Given the description of an element on the screen output the (x, y) to click on. 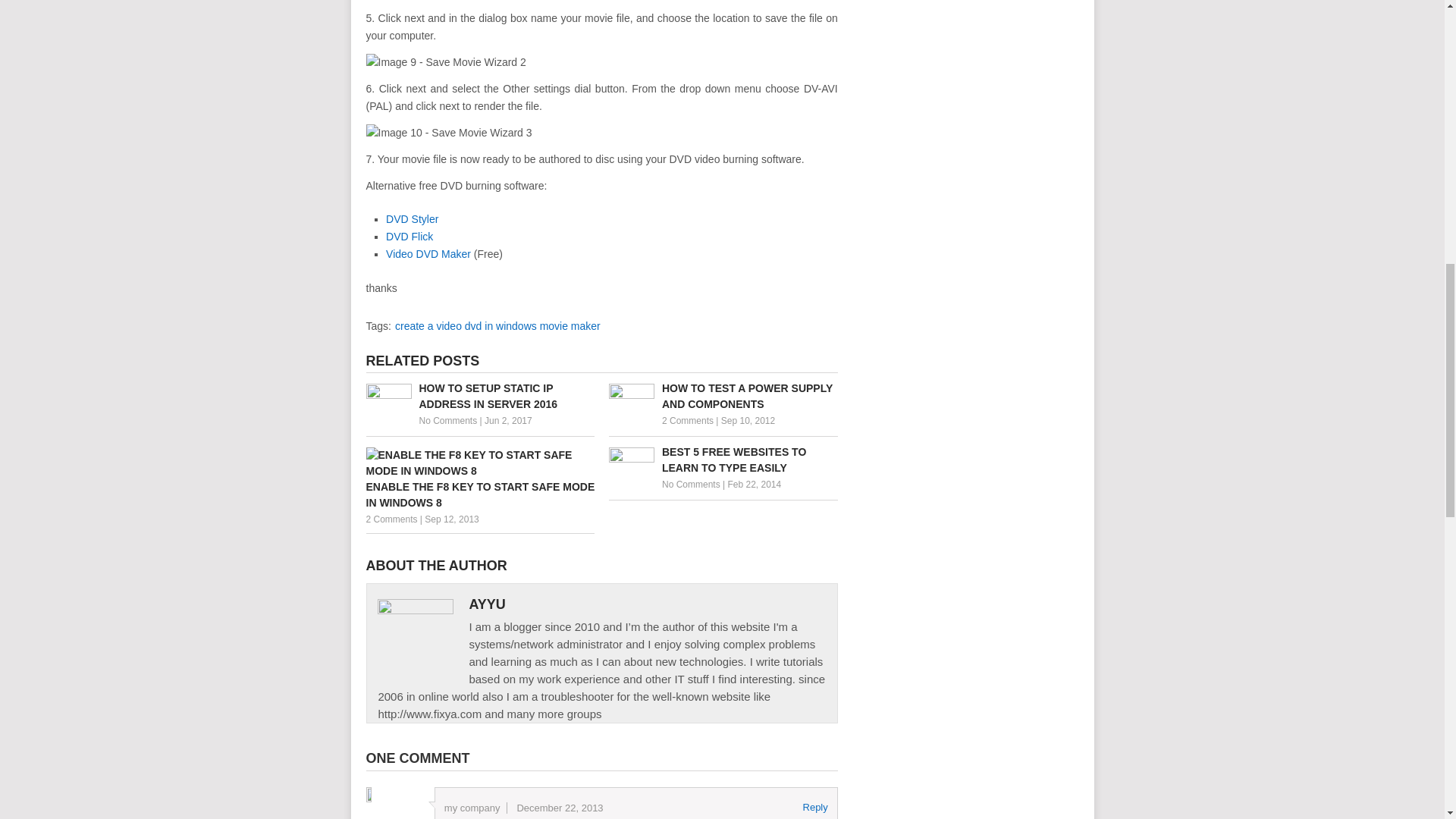
2 Comments (390, 519)
ENABLE THE F8 KEY TO START SAFE MODE IN WINDOWS 8 (479, 477)
HOW TO SETUP STATIC IP ADDRESS IN SERVER 2016 (479, 396)
my company (472, 808)
Best 5 Free Websites To Learn To Type Easily (723, 459)
2 Comments (687, 420)
HOW TO TEST A POWER SUPPLY AND COMPONENTS (723, 396)
Enable the F8 key to start Safe Mode in Windows 8 (479, 477)
create a video dvd in windows movie maker (496, 326)
DVD Flick (408, 236)
BEST 5 FREE WEBSITES TO LEARN TO TYPE EASILY (723, 459)
How to setup static IP address in Server 2016 (479, 396)
No Comments (691, 484)
Reply (815, 807)
DVD Styler (411, 218)
